Given the description of an element on the screen output the (x, y) to click on. 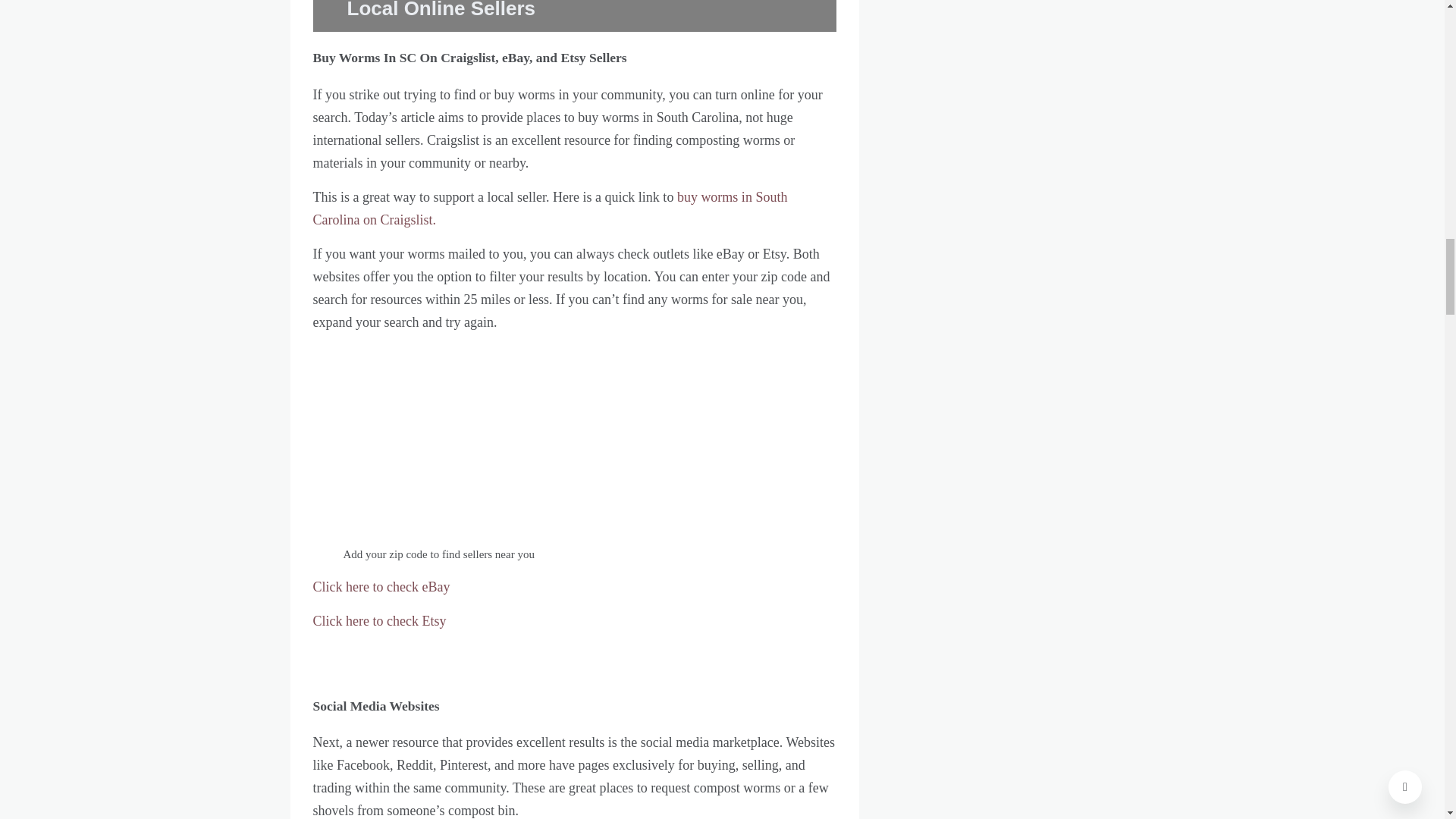
Click here to check Etsy (379, 620)
Click here to check eBay (381, 586)
buy worms in South Carolina on Craigslist. (550, 208)
